Given the description of an element on the screen output the (x, y) to click on. 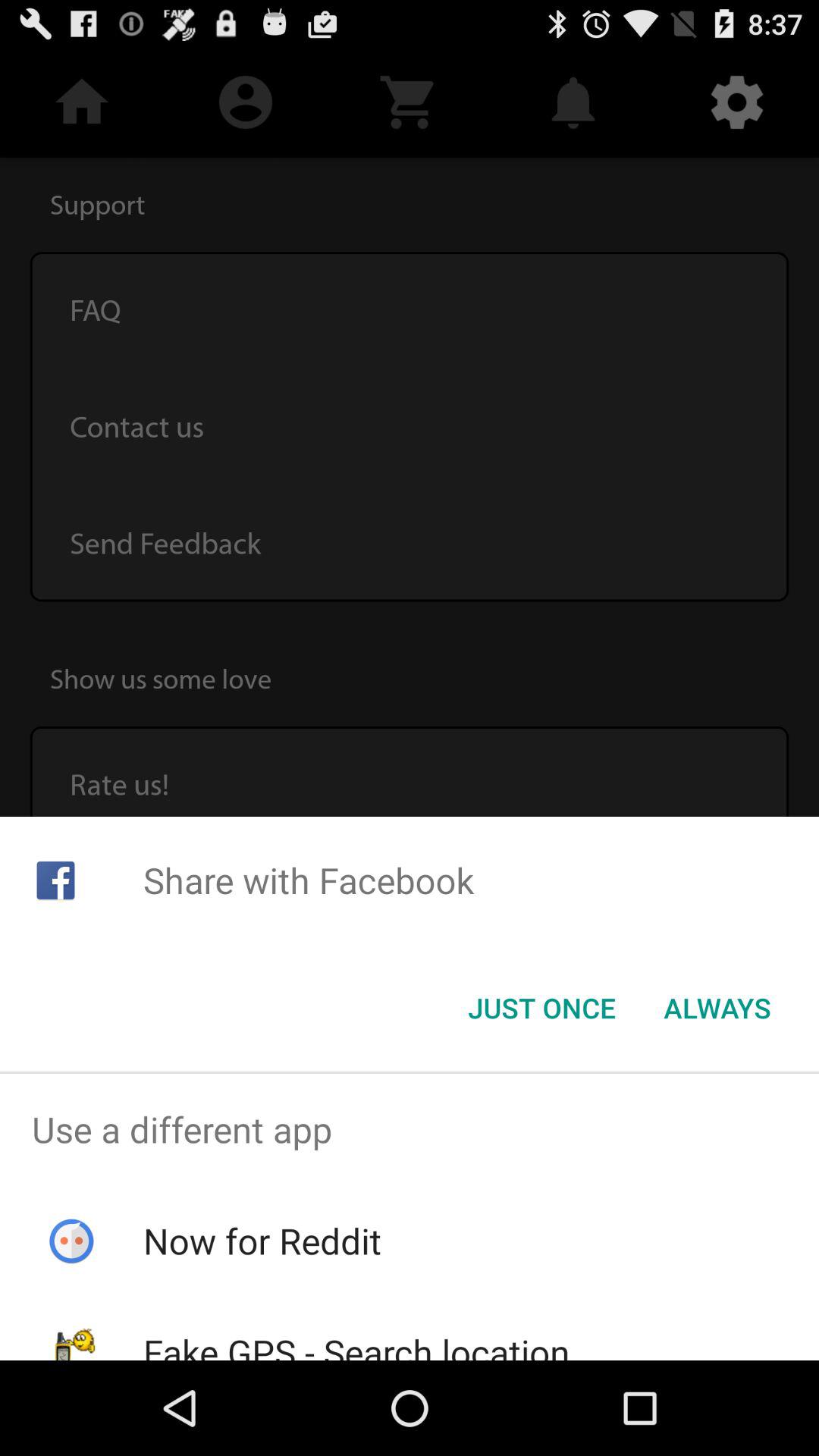
tap the always button (717, 1007)
